Given the description of an element on the screen output the (x, y) to click on. 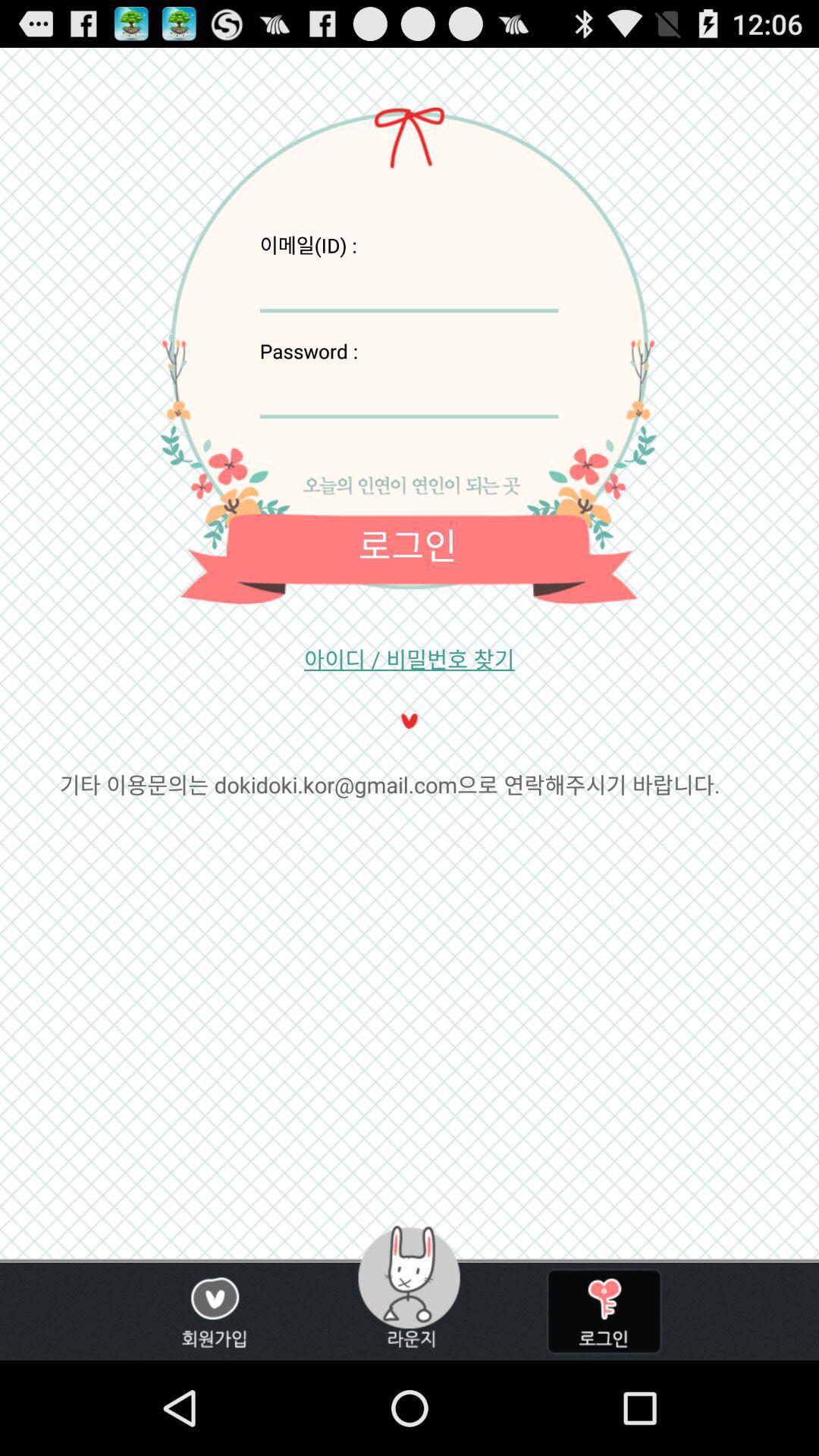
enter password (408, 391)
